Given the description of an element on the screen output the (x, y) to click on. 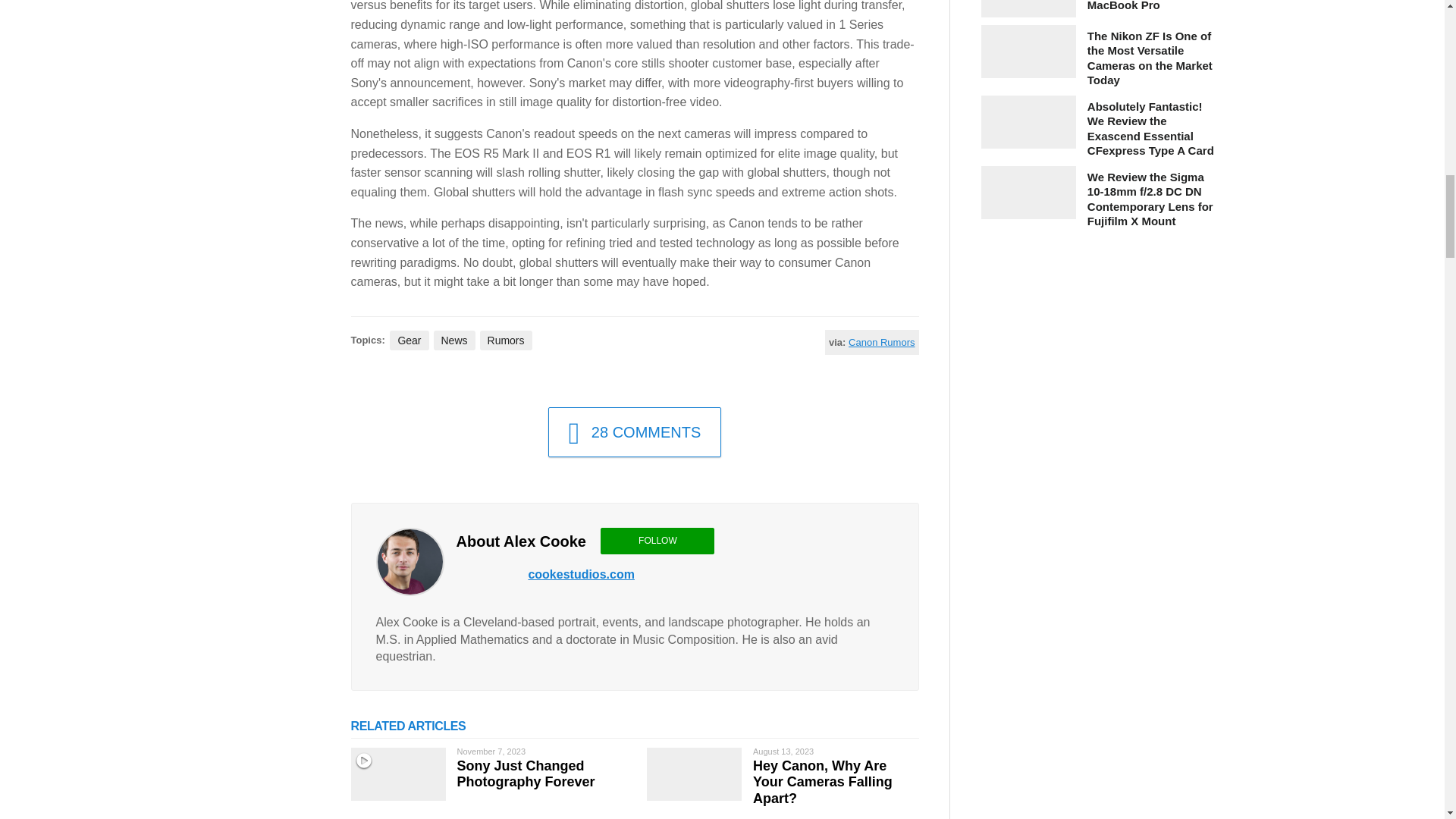
Gear (409, 340)
28 COMMENTS (635, 432)
Canon Rumors (881, 342)
Rumors (506, 340)
FOLLOW (656, 540)
News (454, 340)
